Given the description of an element on the screen output the (x, y) to click on. 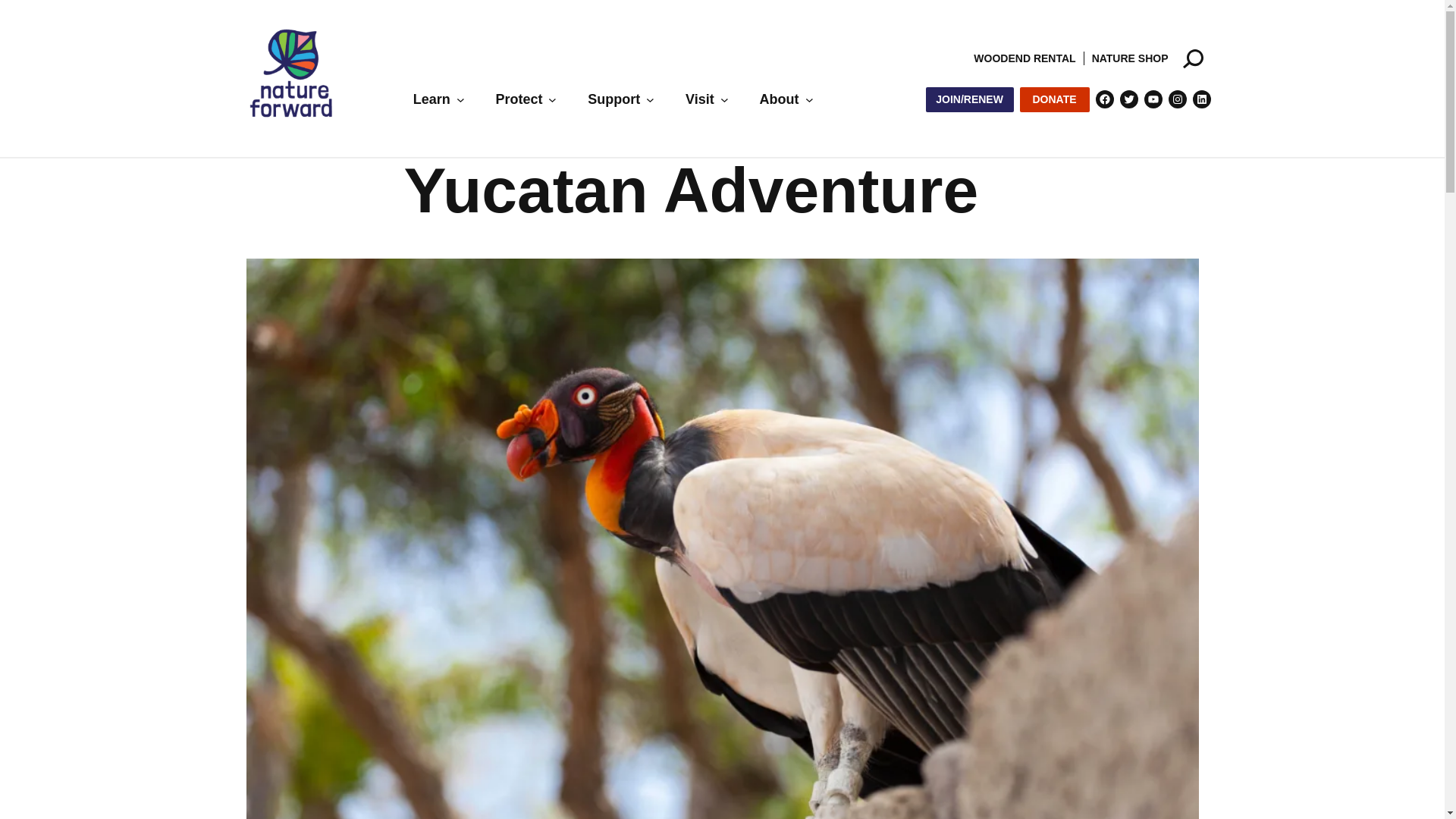
Learn (431, 99)
Support (614, 99)
NATURE SHOP (1130, 58)
Protect (518, 99)
Visit (699, 99)
WOODEND RENTAL (1024, 58)
